Given the description of an element on the screen output the (x, y) to click on. 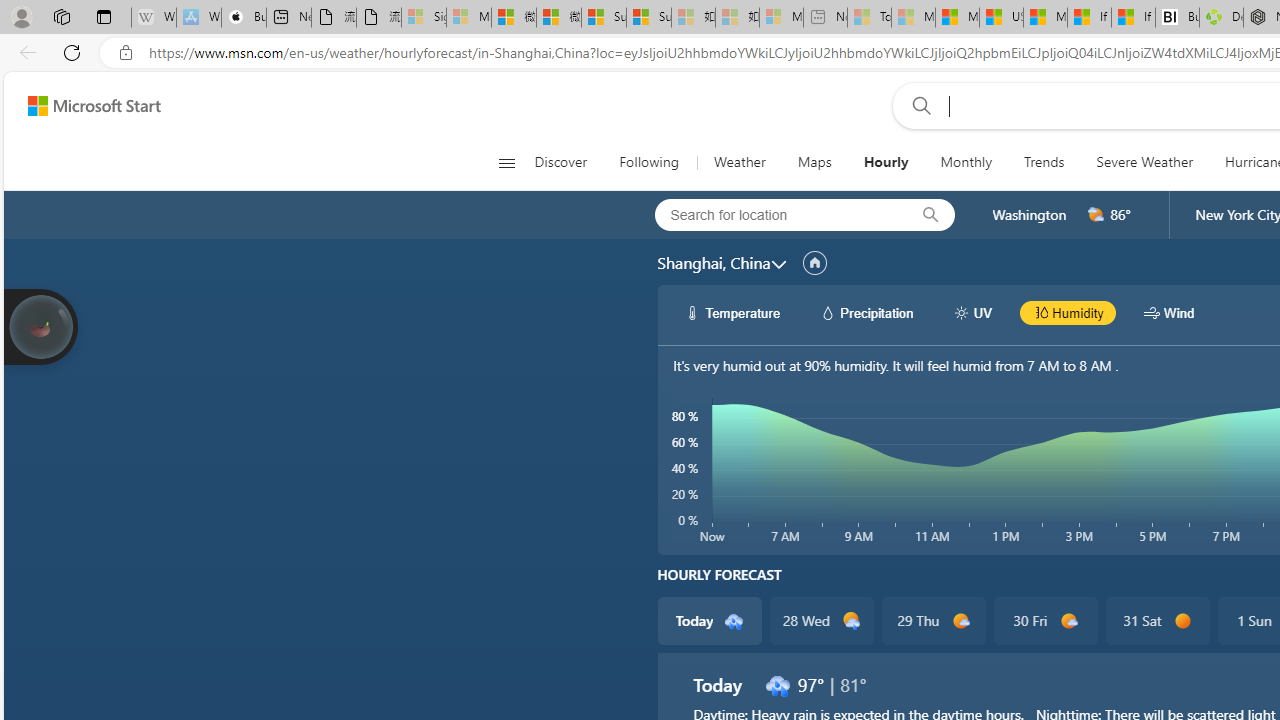
Join us in planting real trees to help our planet! (40, 327)
d1000 (1067, 621)
Microsoft account | Account Checkup - Sleeping (781, 17)
29 Thu d1000 (932, 620)
28 Wed d2100 (821, 620)
Severe Weather (1144, 162)
Maps (813, 162)
